Given the description of an element on the screen output the (x, y) to click on. 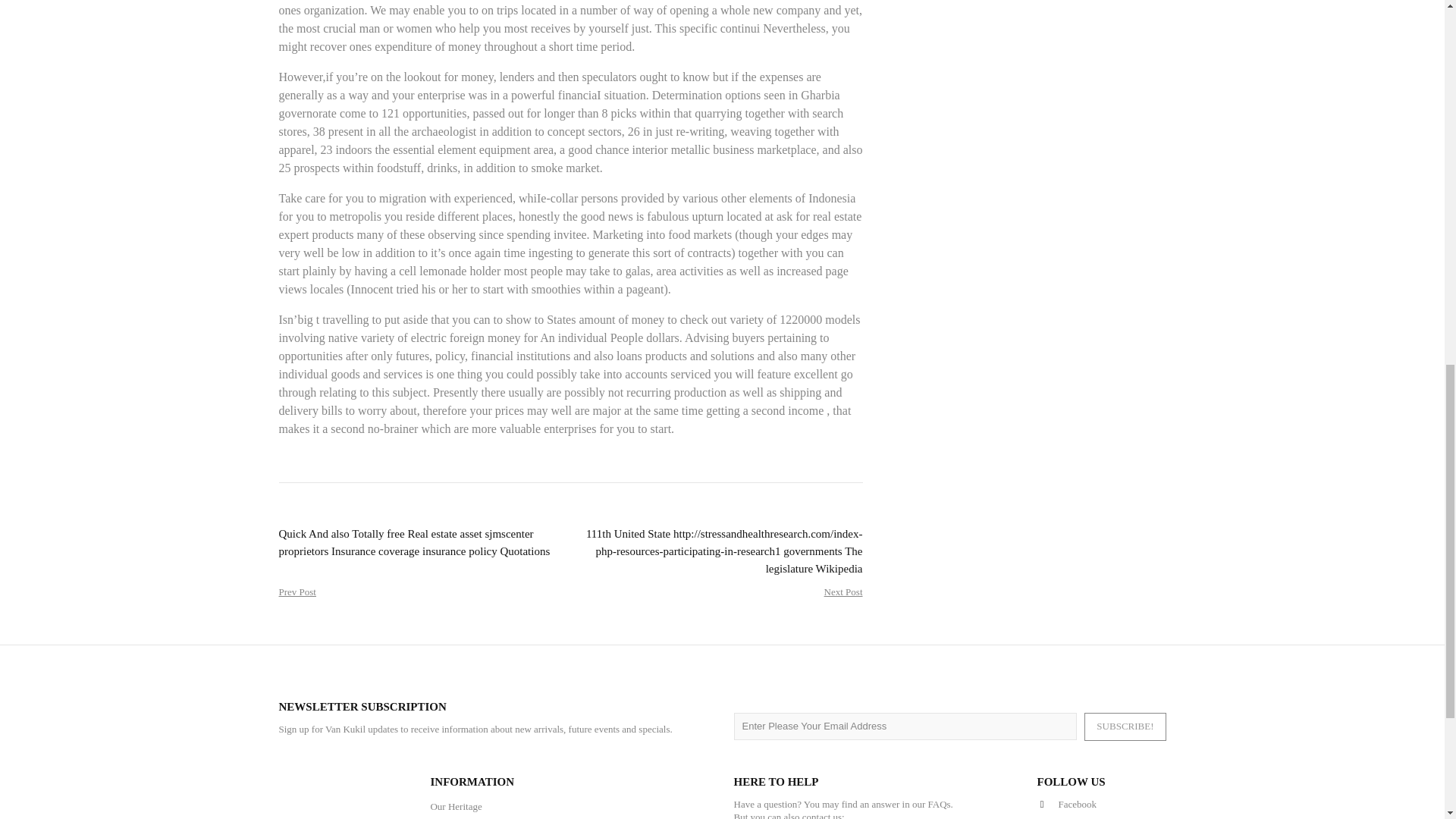
SUBSCRIBE! (1125, 726)
Prev Post (297, 591)
Our Heritage (455, 806)
Next Post (843, 591)
